Given the description of an element on the screen output the (x, y) to click on. 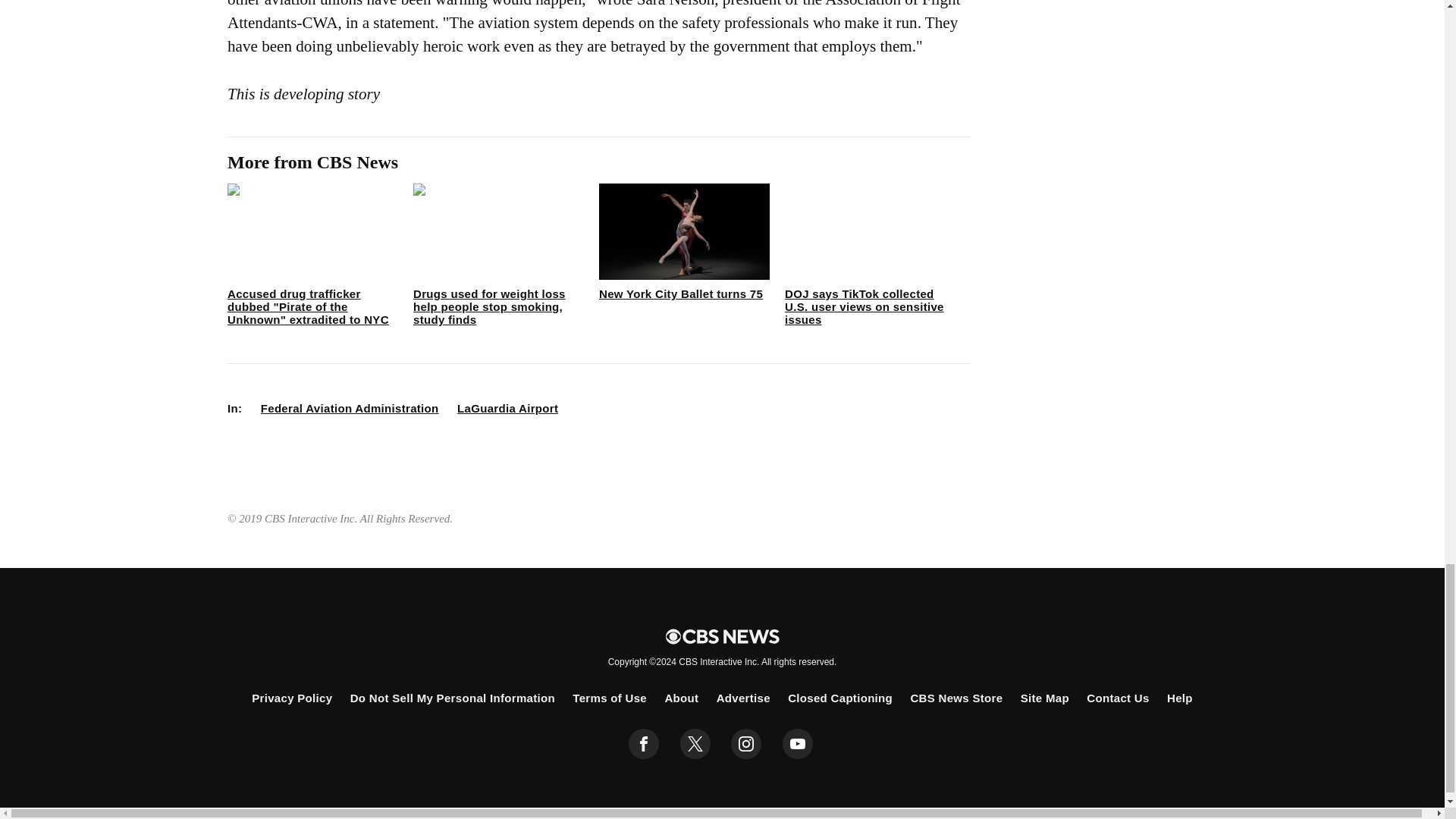
twitter (694, 743)
facebook (643, 743)
instagram (745, 743)
youtube (797, 743)
